Given the description of an element on the screen output the (x, y) to click on. 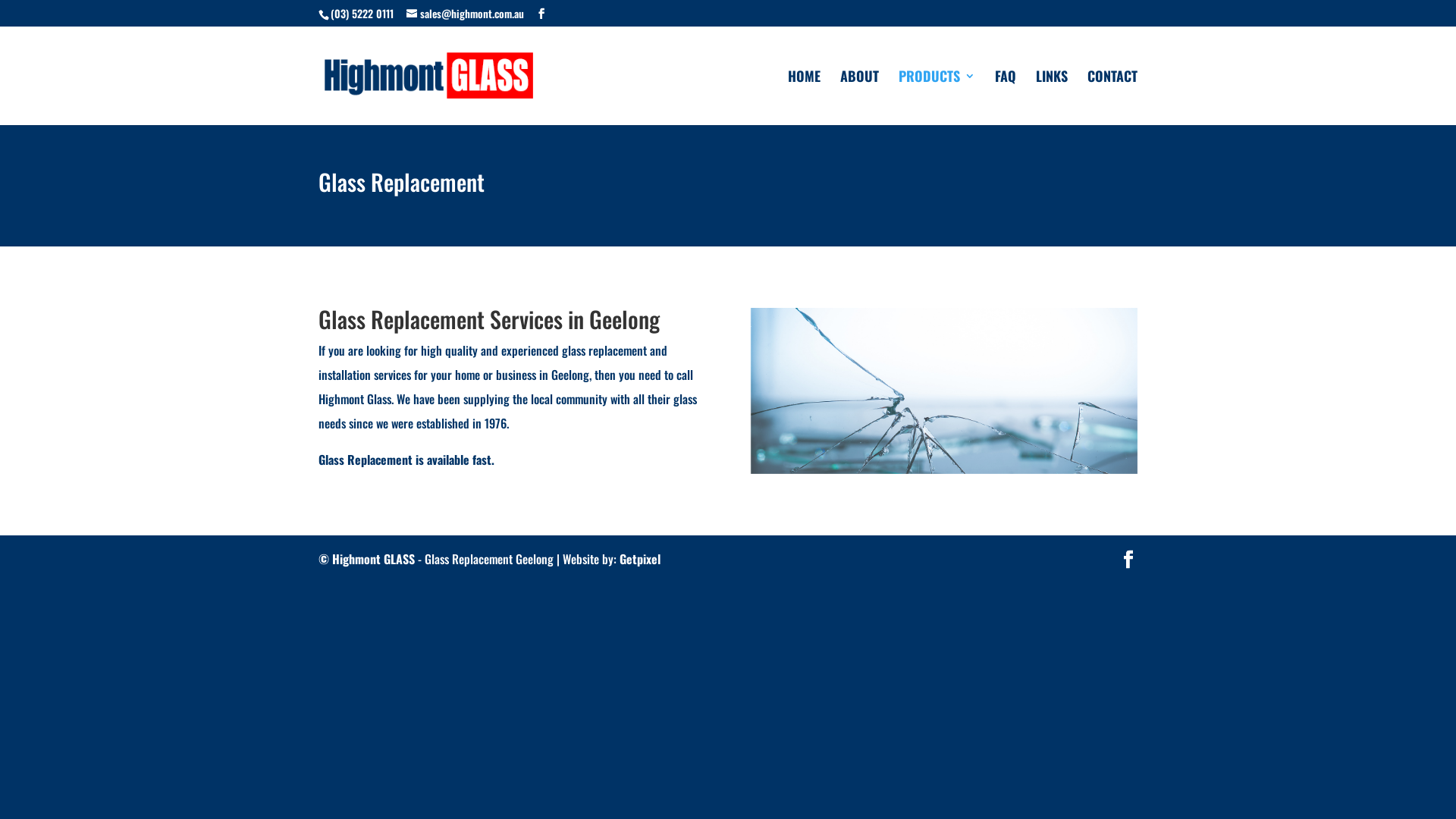
Getpixel Element type: text (639, 558)
FAQ Element type: text (1005, 97)
HOME Element type: text (803, 97)
ABOUT Element type: text (859, 97)
PRODUCTS Element type: text (936, 97)
LINKS Element type: text (1051, 97)
CONTACT Element type: text (1112, 97)
sales@highmont.com.au Element type: text (465, 12)
Glass Replacement Geelong Element type: hover (943, 390)
